Given the description of an element on the screen output the (x, y) to click on. 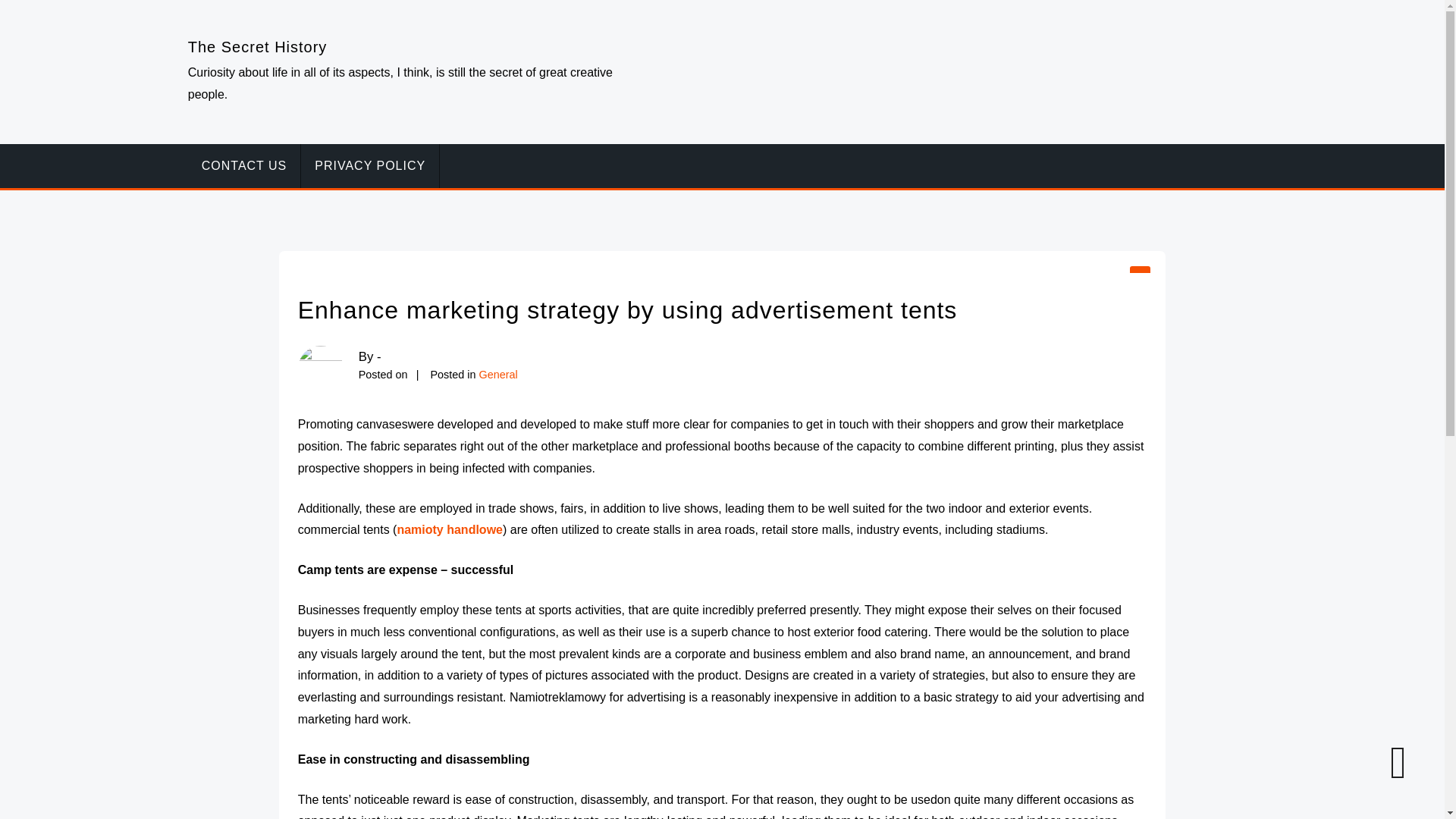
CONTACT US (244, 166)
General (498, 374)
PRIVACY POLICY (370, 166)
The Secret History (257, 46)
namioty handlowe (449, 529)
